Given the description of an element on the screen output the (x, y) to click on. 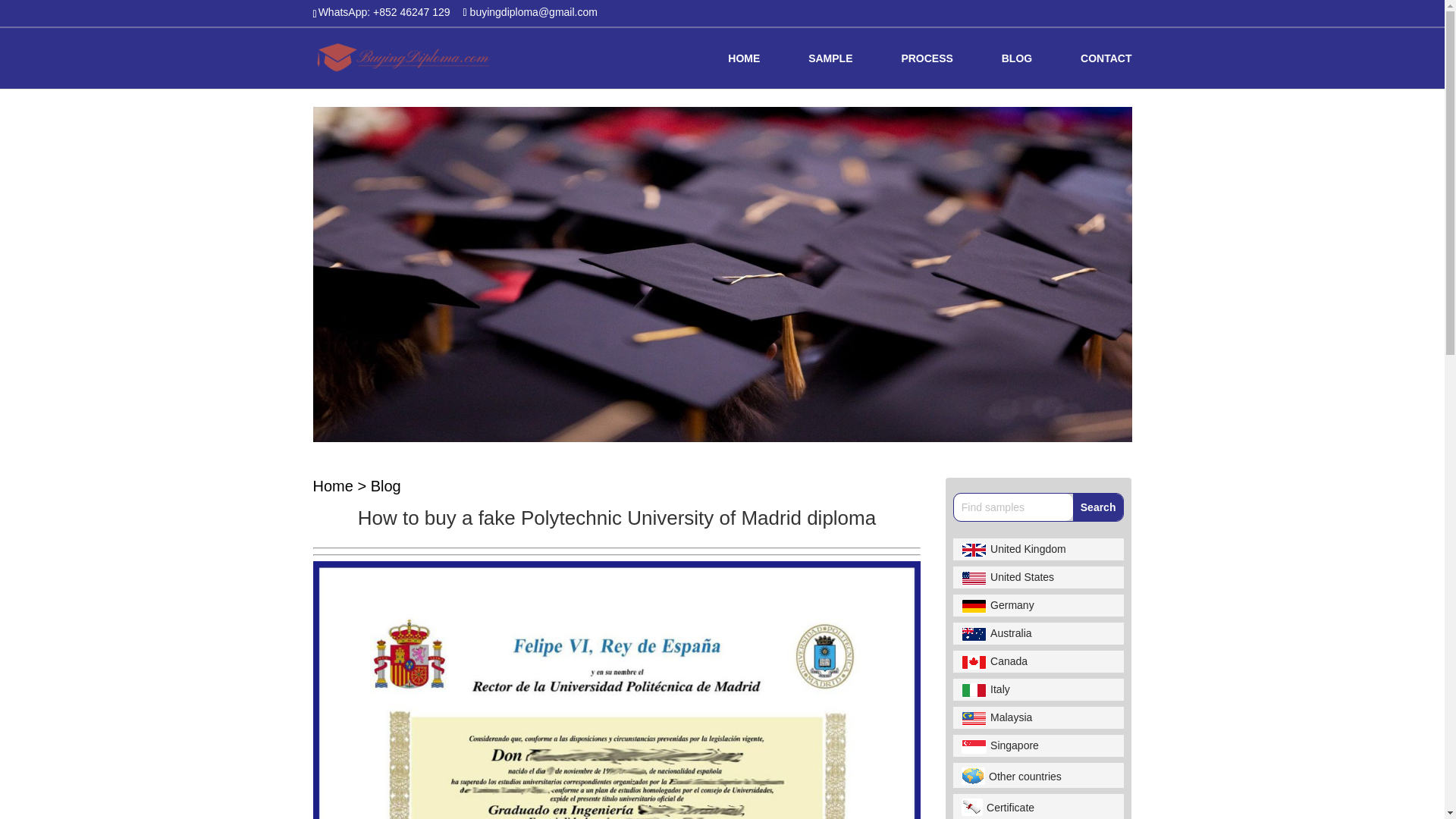
Germany (1037, 605)
Certificate (1037, 806)
United Kingdom (1037, 549)
CONTACT (1105, 70)
United States (1037, 577)
PROCESS (926, 70)
Home (332, 485)
SAMPLE (829, 70)
HOME (744, 70)
Blog (386, 485)
